Given the description of an element on the screen output the (x, y) to click on. 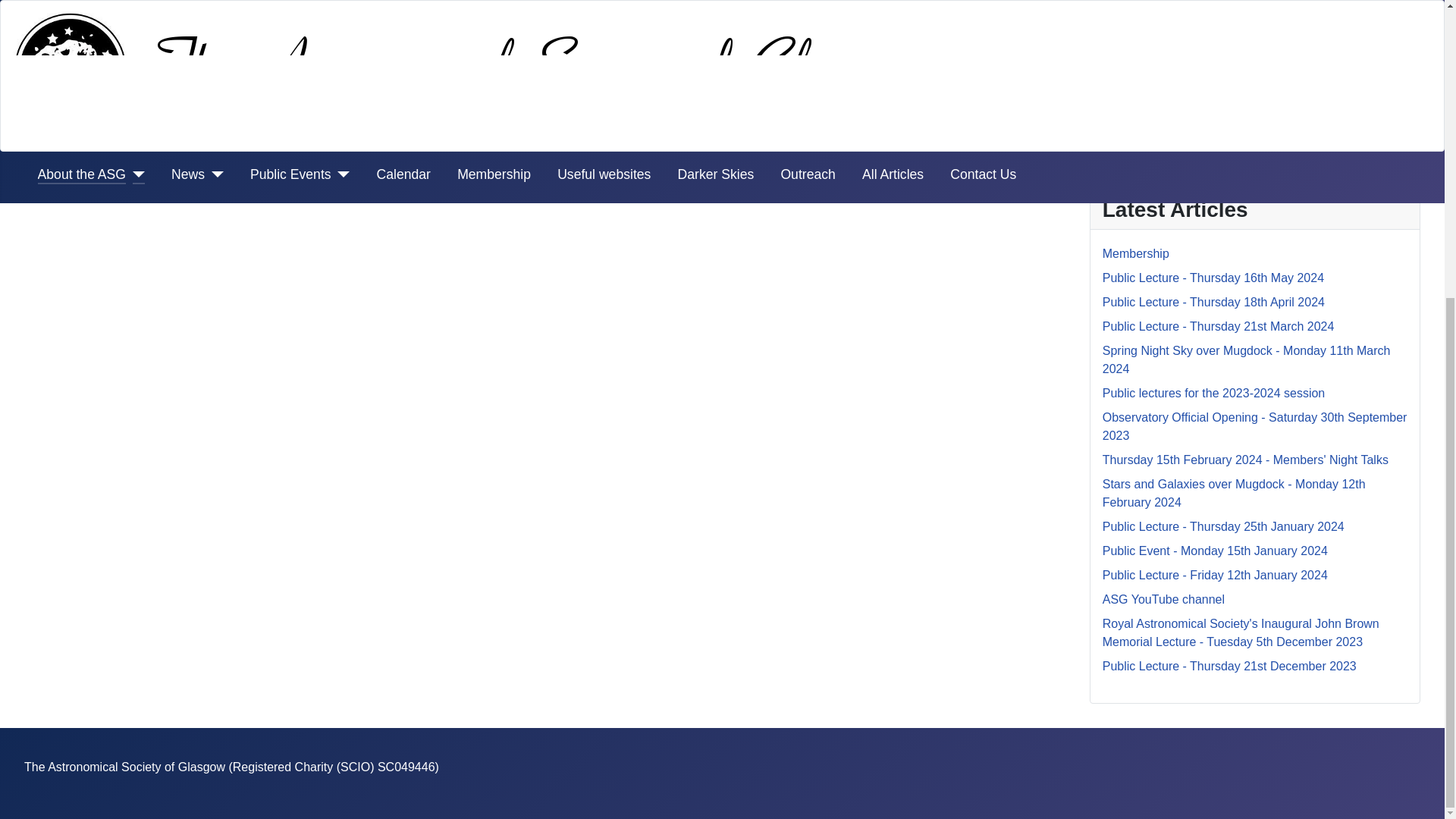
Twitter (265, 133)
Facebook (178, 133)
Forgot your password? (1164, 62)
Log in (1254, 25)
Public Lecture - Thursday 18th April 2024 (1213, 301)
Forgot your username? (1165, 81)
Public Lecture - Thursday 16th May 2024 (1212, 277)
Public Lecture - Thursday 21st March 2024 (1218, 326)
Login (1117, 152)
Spring Night Sky over Mugdock - Monday 11th March 2024 (1246, 359)
Membership (1135, 253)
Public lectures for the 2023-2024 session (1213, 392)
